Given the description of an element on the screen output the (x, y) to click on. 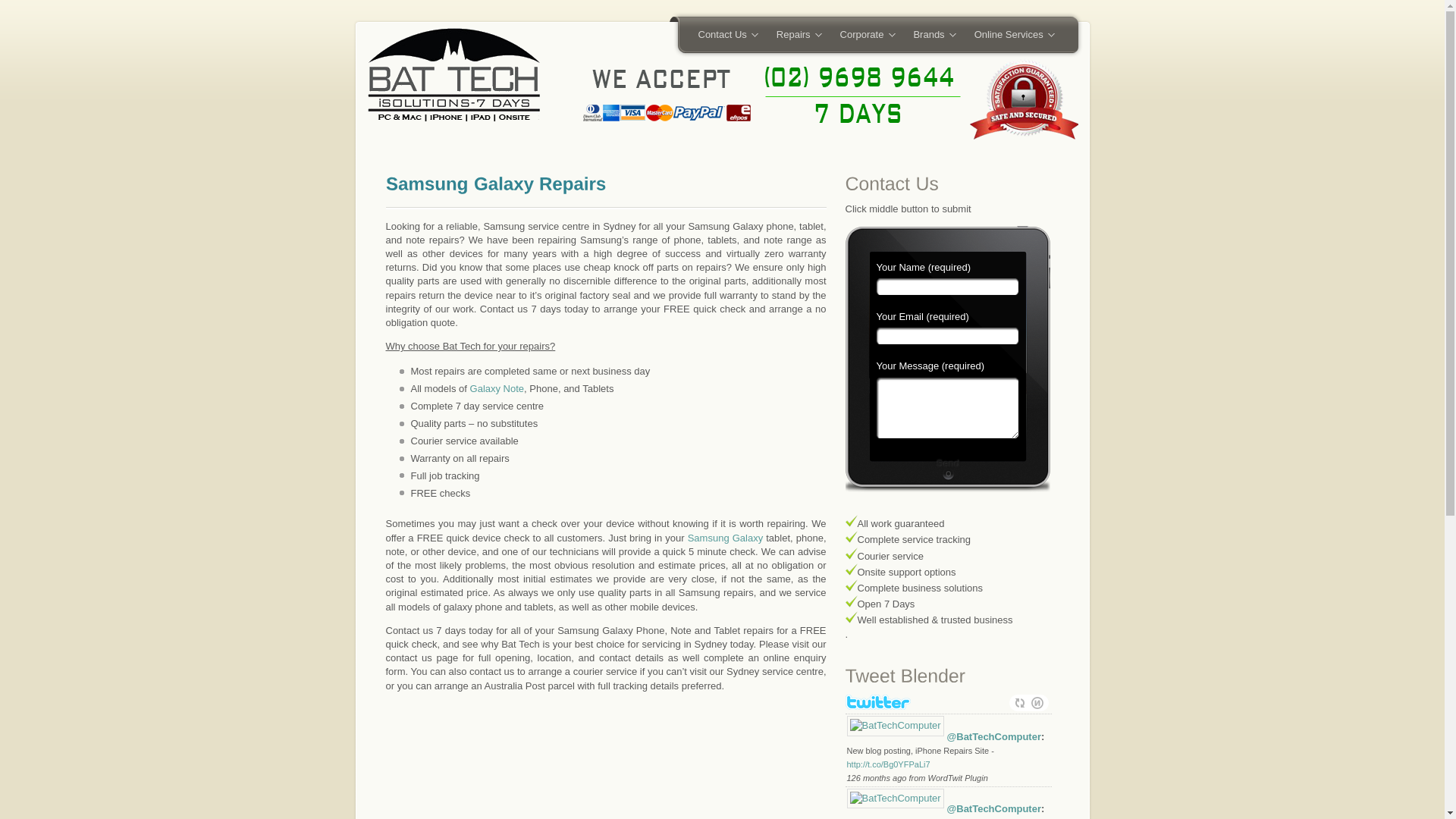
Send Element type: text (946, 473)
Samsung Galaxy Element type: text (724, 537)
Galaxy Note Element type: text (497, 388)
@BatTechComputer Element type: text (994, 808)
Refresh Tweets Element type: hover (1019, 702)
http://t.co/Bg0YFPaLi7 Element type: text (887, 763)
126 months ago Element type: text (876, 777)
@BatTechComputer Element type: text (994, 736)
WordTwit Plugin Element type: text (958, 777)
Tweet Blender by Kirill Novitchenko Element type: hover (1037, 702)
